Given the description of an element on the screen output the (x, y) to click on. 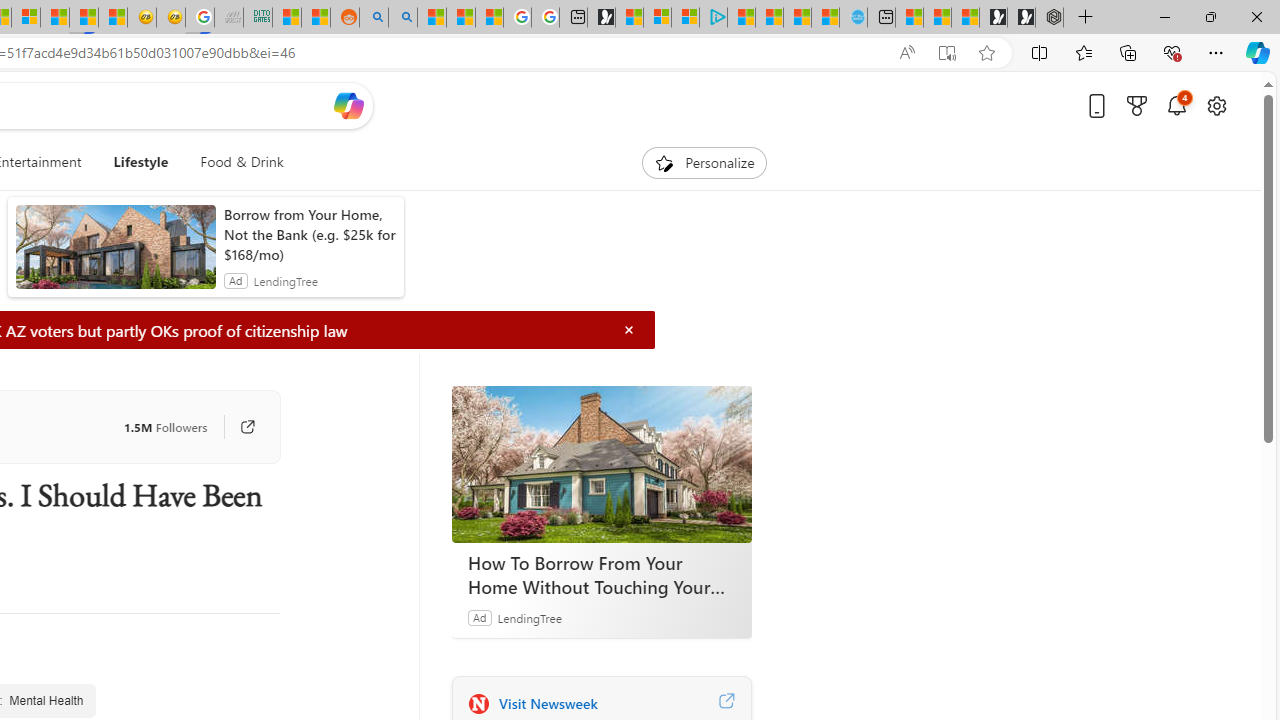
MSNBC - MSN (286, 17)
Lifestyle (140, 162)
Lifestyle (141, 162)
Microsoft rewards (1137, 105)
MSN (84, 17)
Visit Newsweek website (726, 703)
